Given the description of an element on the screen output the (x, y) to click on. 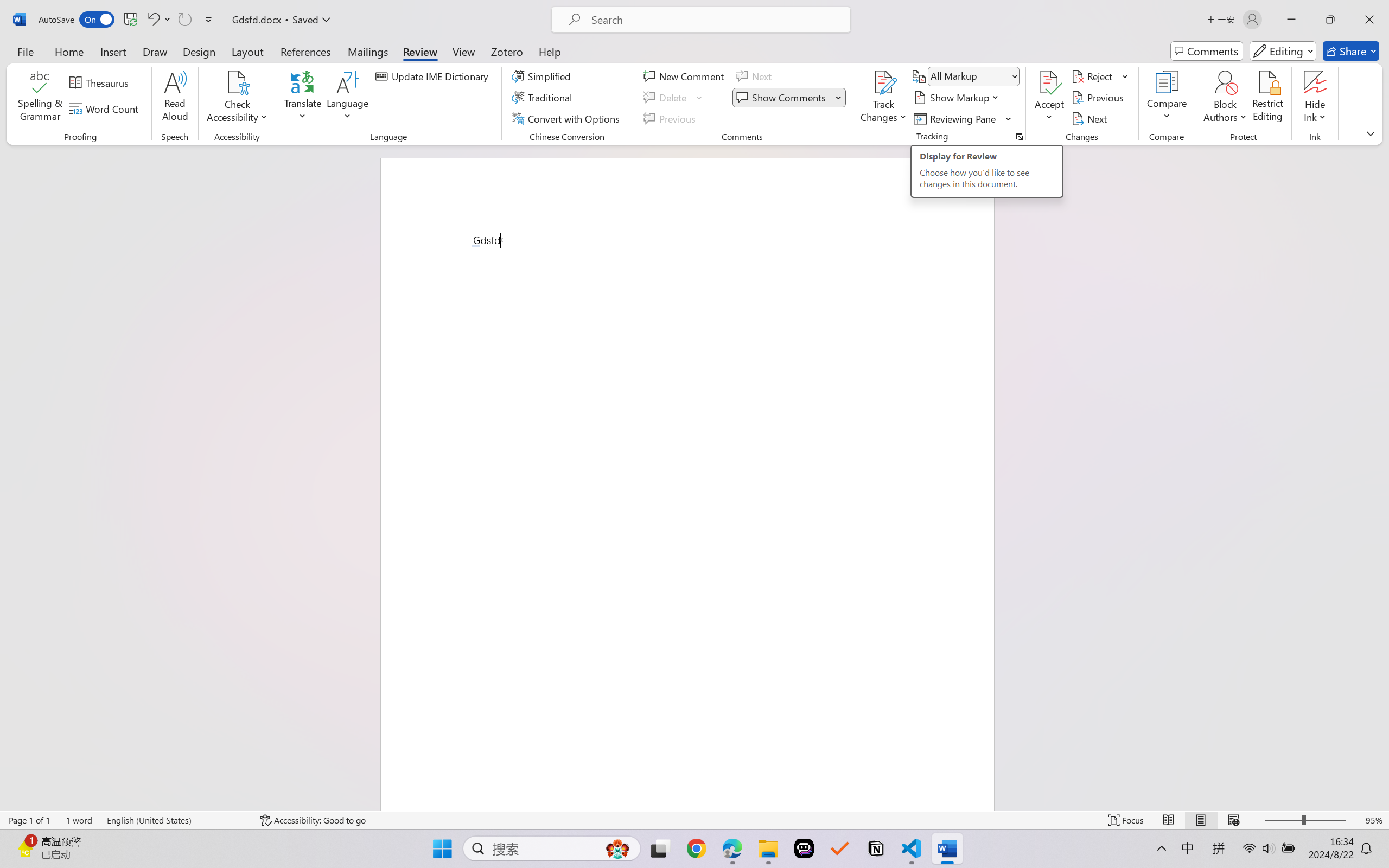
Reviewing Pane (955, 118)
Undo AutoCorrect (152, 19)
Restrict Editing (1267, 97)
Action: Undo Auto Actions (475, 245)
Accept (1049, 97)
Delete (673, 97)
Compare (1166, 97)
